Given the description of an element on the screen output the (x, y) to click on. 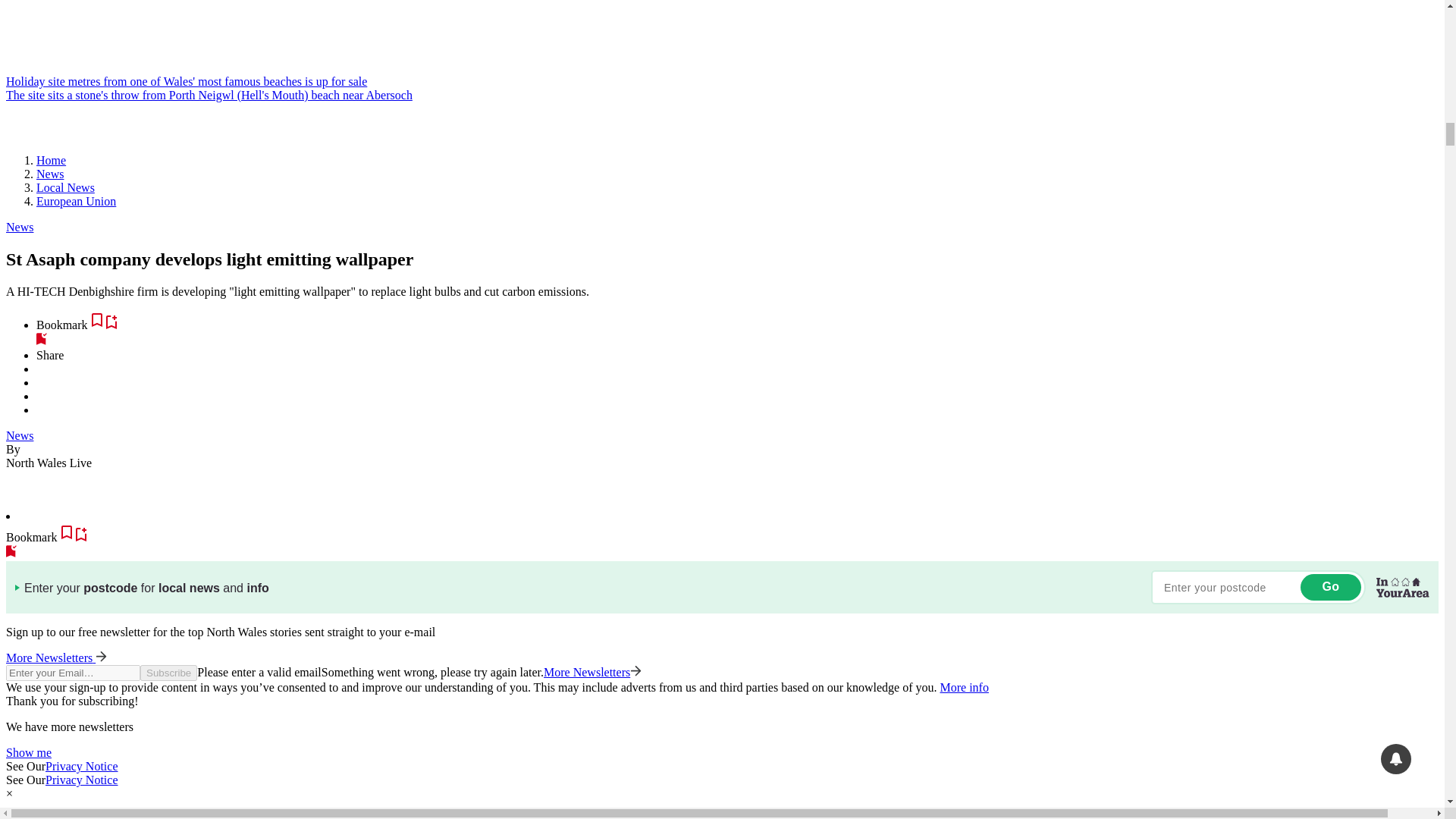
Go (1330, 587)
Group 28 (721, 809)
